Given the description of an element on the screen output the (x, y) to click on. 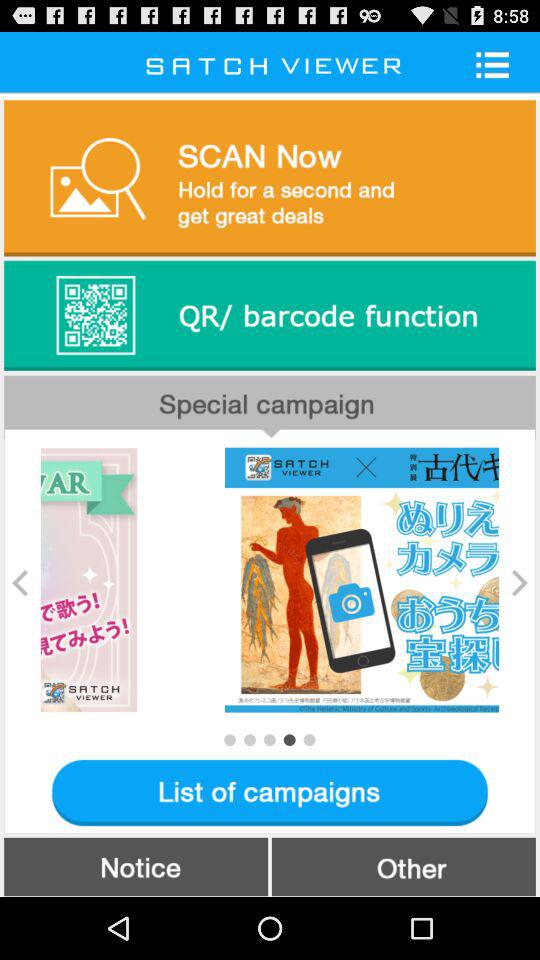
open icon on the left (19, 582)
